Given the description of an element on the screen output the (x, y) to click on. 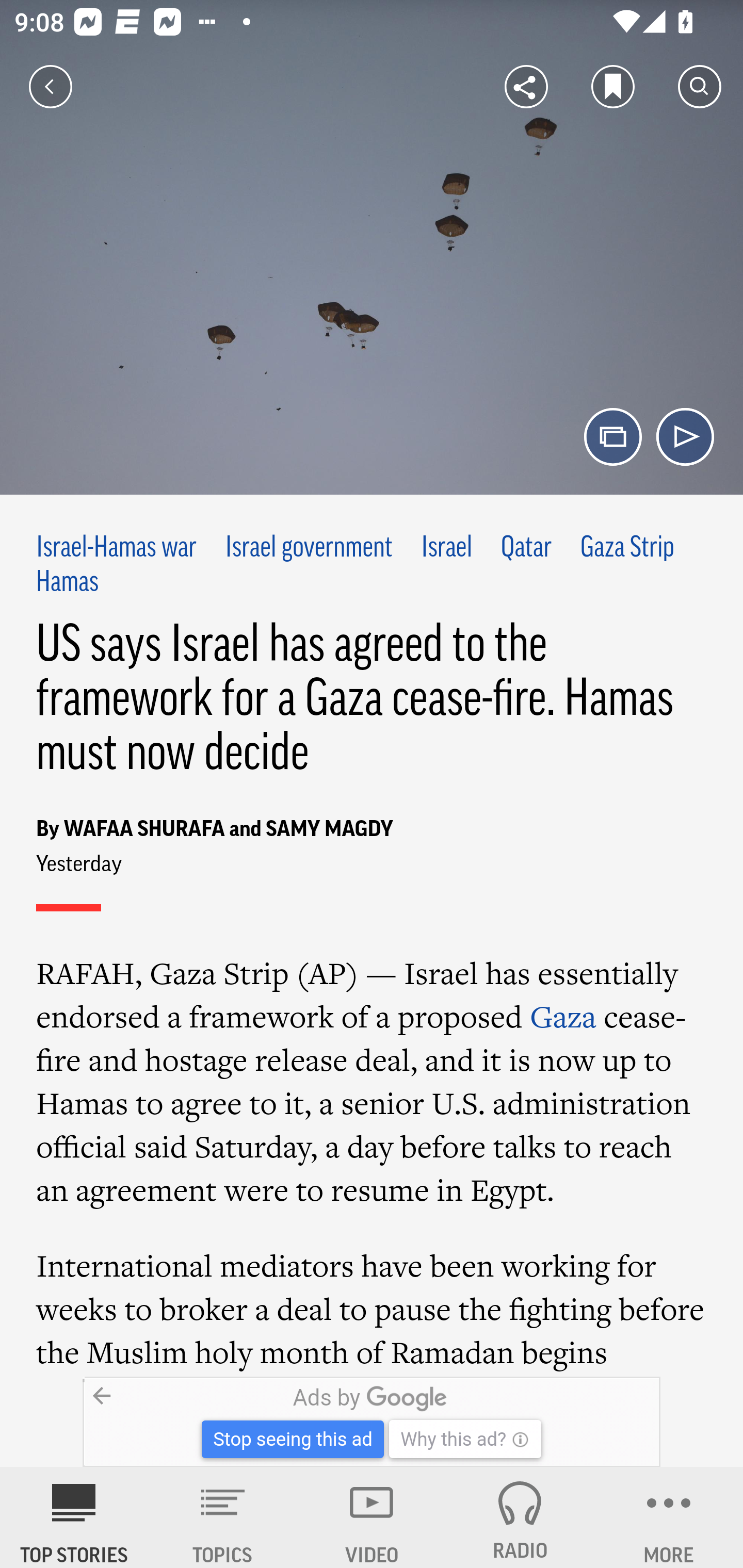
Israel-Hamas war (117, 548)
Israel government (308, 548)
Israel (446, 548)
Qatar (526, 548)
Gaza Strip (627, 548)
Hamas (67, 582)
Gaza (563, 1016)
AP News TOP STORIES (74, 1517)
TOPICS (222, 1517)
VIDEO (371, 1517)
RADIO (519, 1517)
MORE (668, 1517)
